Given the description of an element on the screen output the (x, y) to click on. 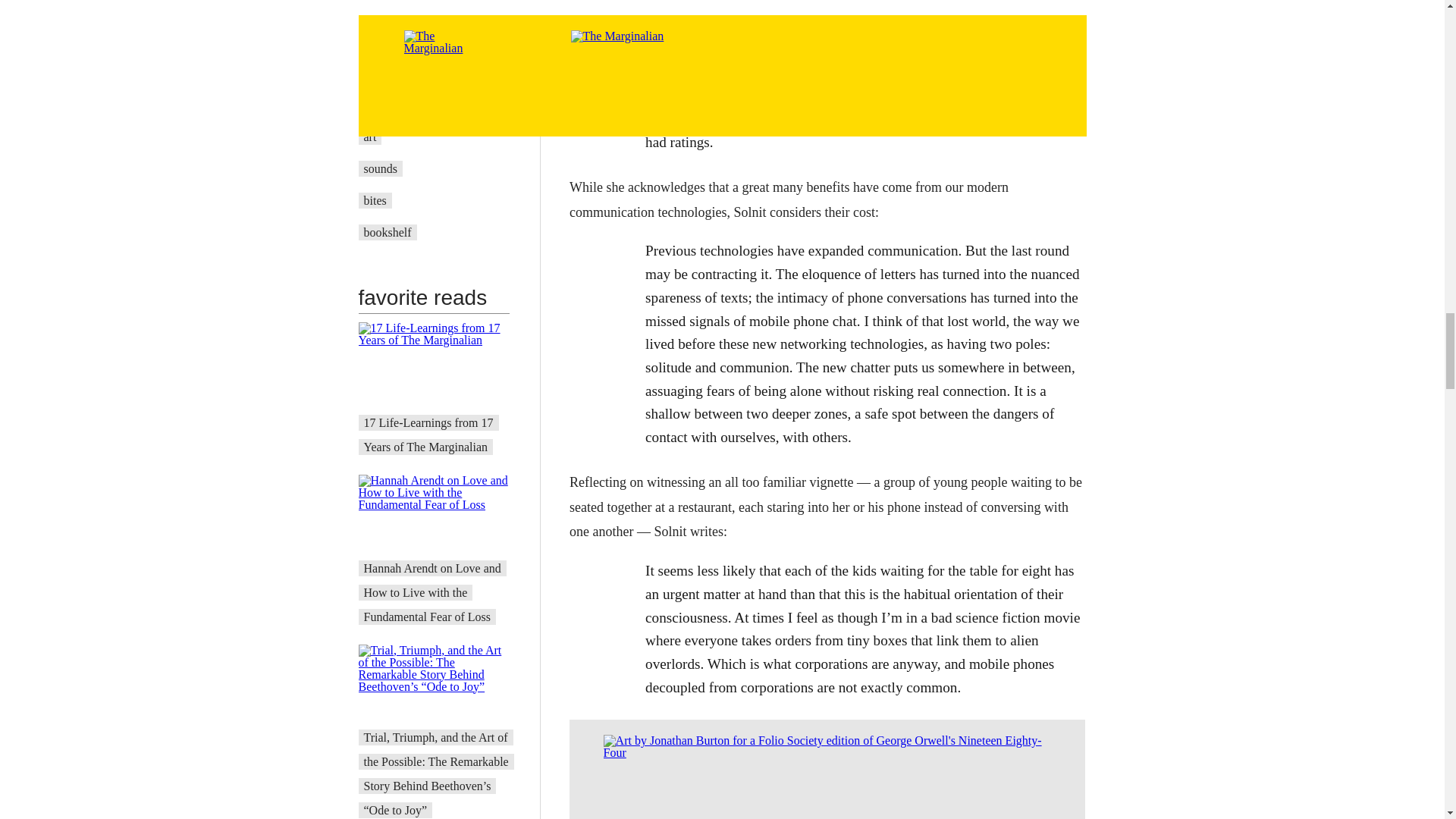
A Velocity of Being (412, 105)
art (370, 136)
bites (375, 200)
sounds (380, 168)
